Given the description of an element on the screen output the (x, y) to click on. 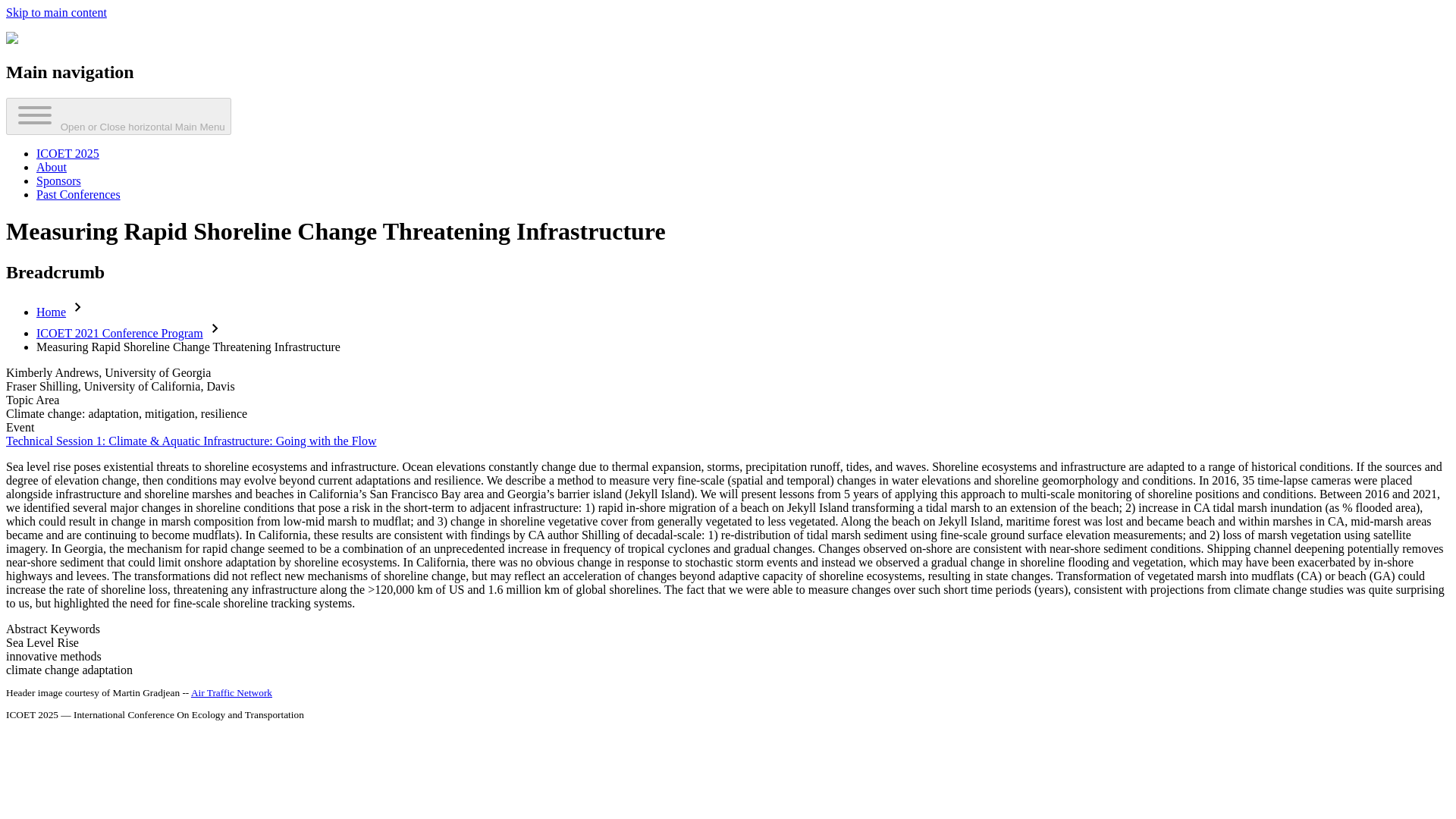
Air Traffic Network (231, 692)
Sponsors (58, 180)
About (51, 166)
Past Conferences (78, 194)
Skip to main content (55, 11)
ICOET 2021 Conference Program (119, 332)
Open or Close horizontal Main Menu (118, 116)
Home (50, 311)
Conference Sponsors (58, 180)
ICOET 2025 (67, 153)
